Given the description of an element on the screen output the (x, y) to click on. 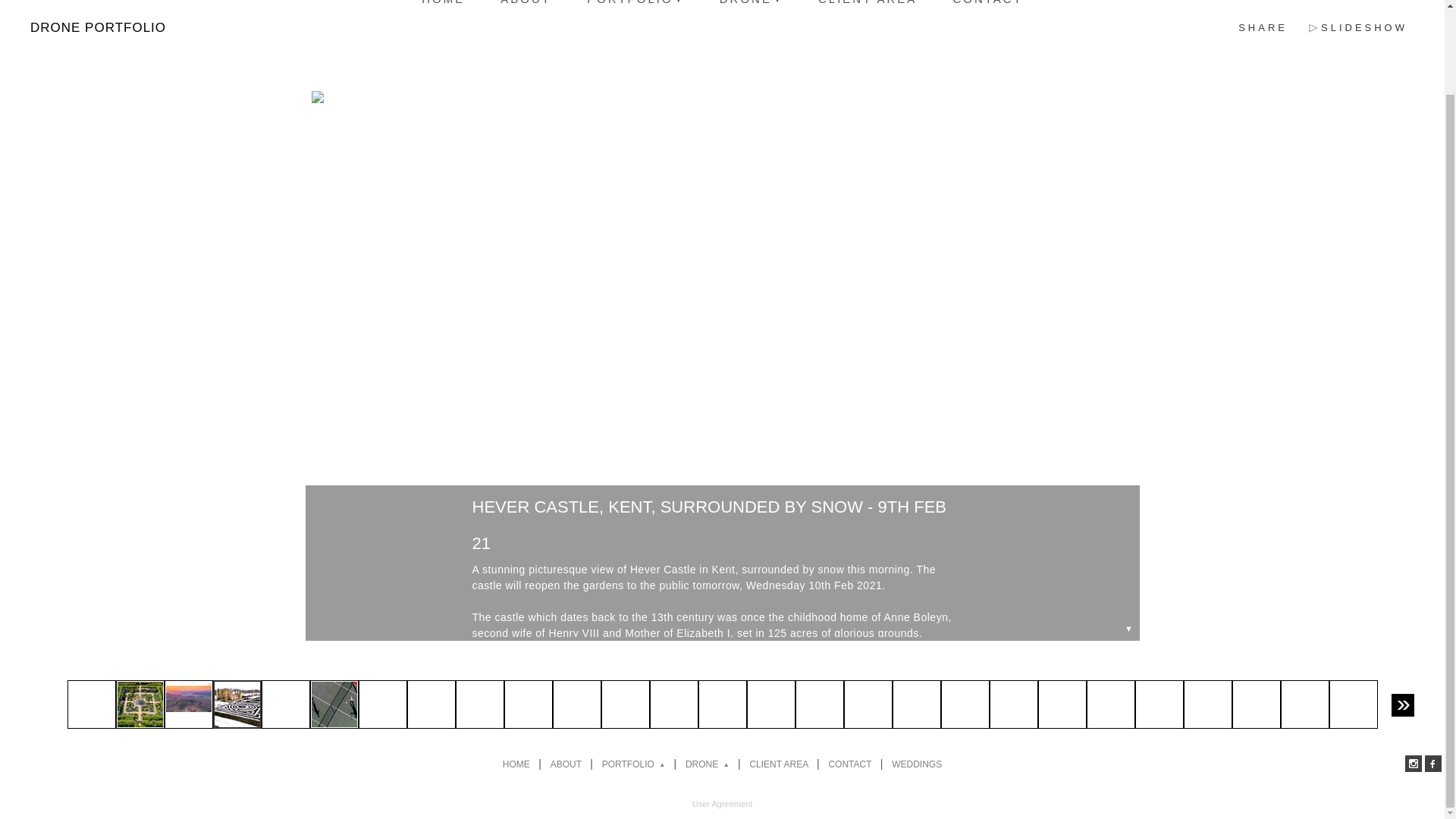
CLIENT AREA (867, 4)
DRONE PORTFOLIO (97, 27)
ABOUT (525, 4)
More Thumbnails (1402, 704)
CONTACT (986, 4)
HOME (443, 4)
